Given the description of an element on the screen output the (x, y) to click on. 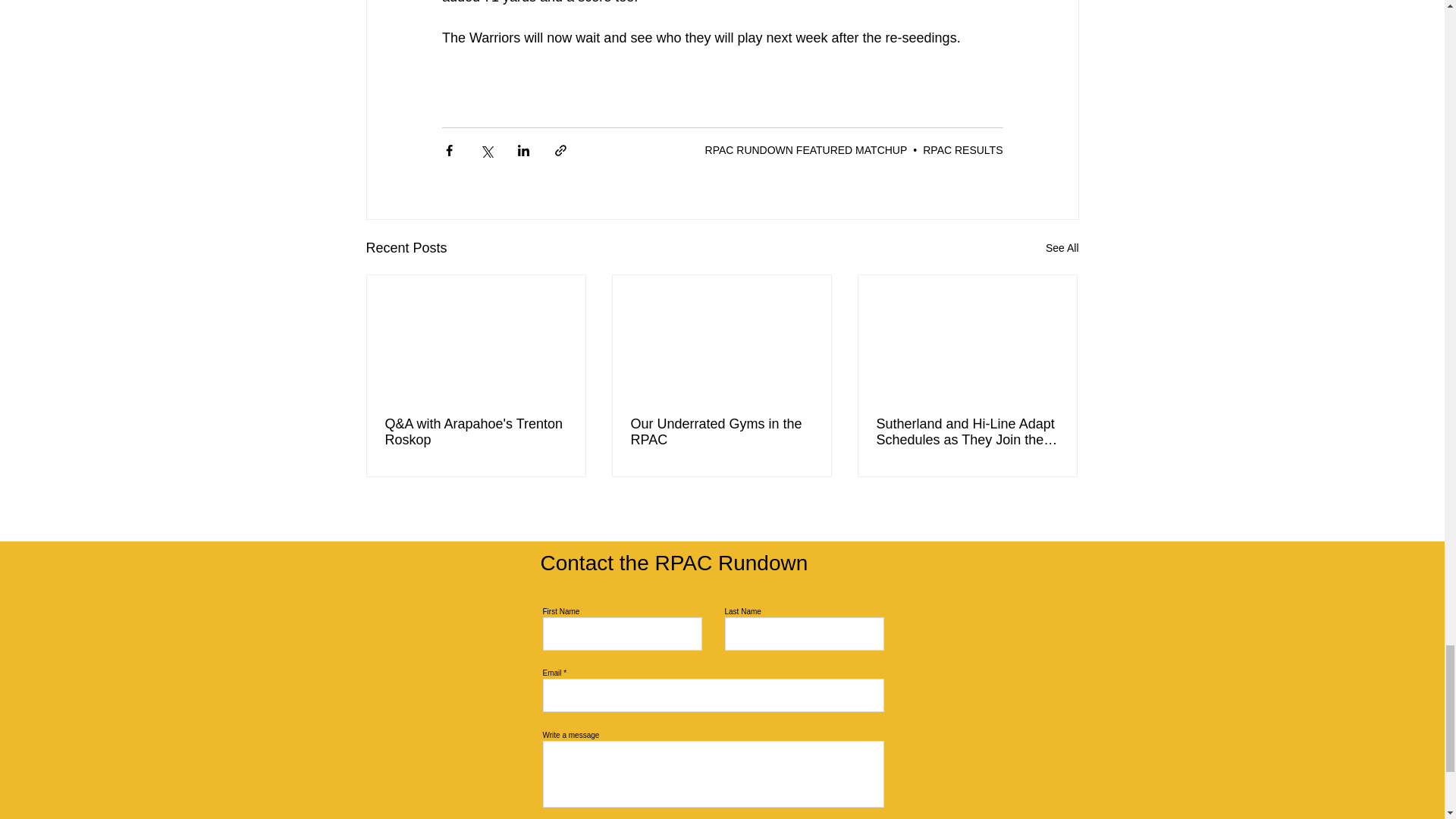
RPAC RESULTS (963, 150)
See All (1061, 248)
Our Underrated Gyms in the RPAC (721, 431)
Sutherland and Hi-Line Adapt Schedules as They Join the RPAC (967, 431)
RPAC RUNDOWN FEATURED MATCHUP (805, 150)
